Given the description of an element on the screen output the (x, y) to click on. 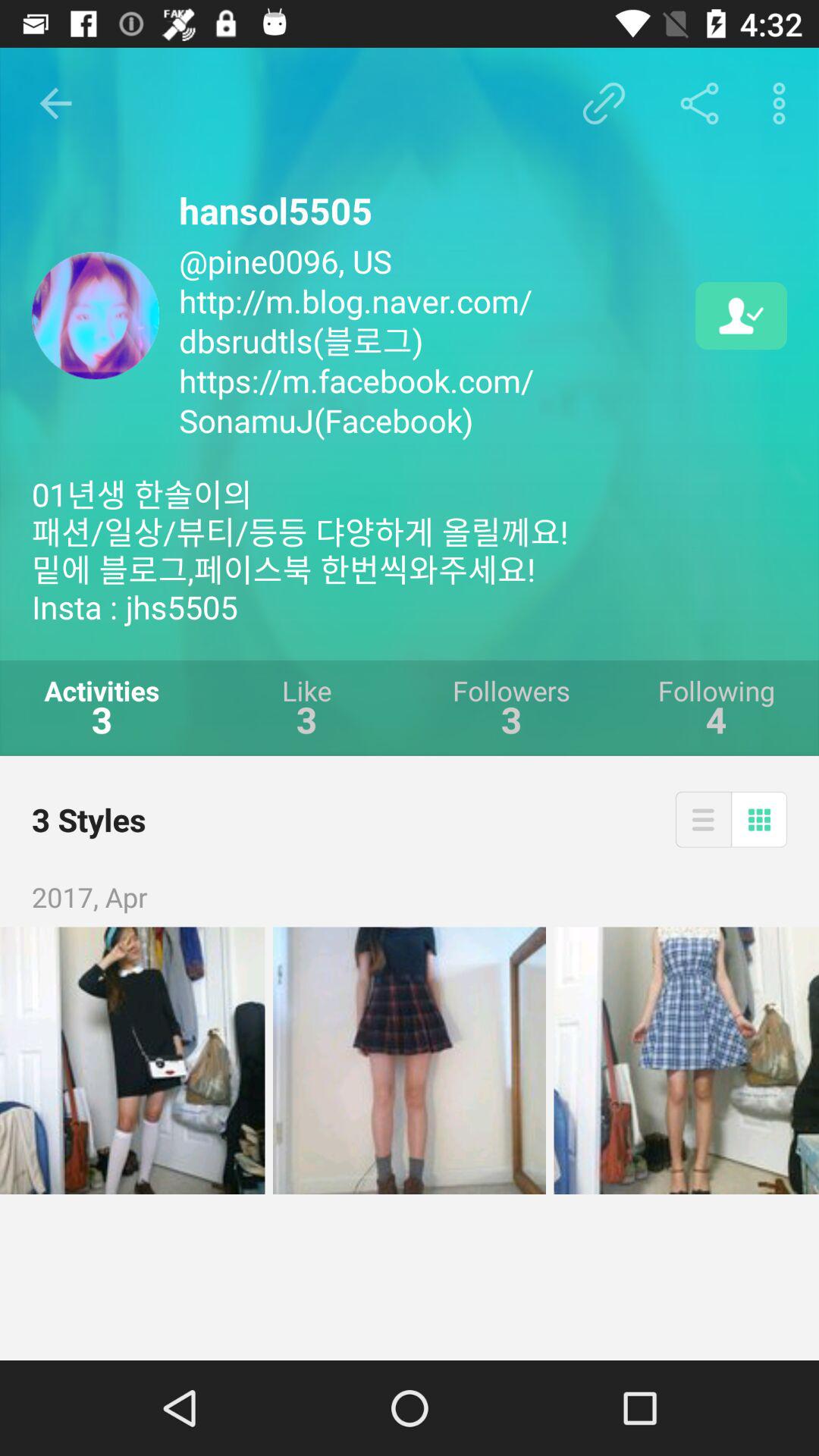
grid view option (759, 819)
